Given the description of an element on the screen output the (x, y) to click on. 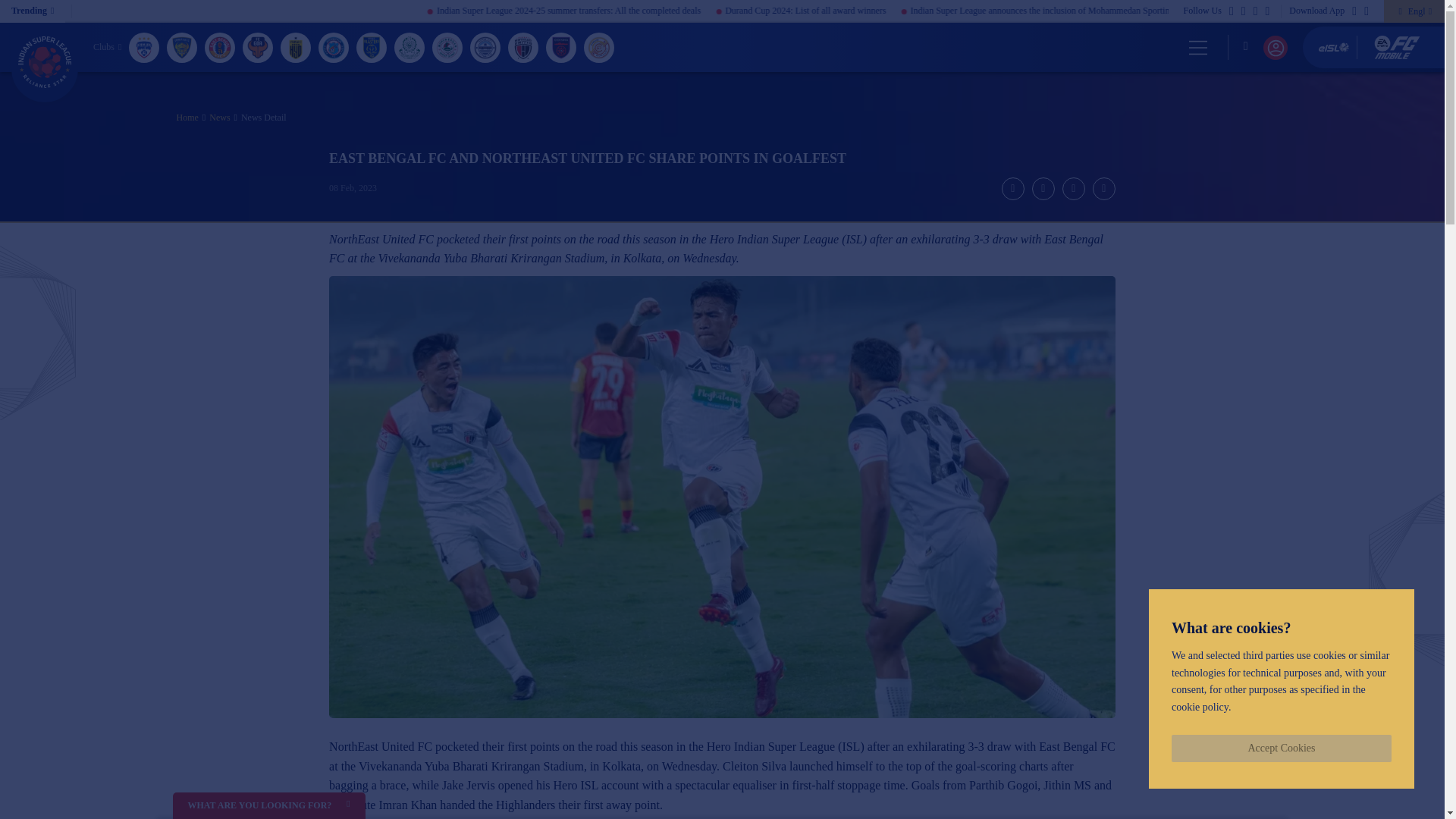
Mohun Bagan Super Giant (447, 46)
East Bengal FC (219, 46)
Jamshedpur FC (333, 46)
Mohammedan SC (409, 46)
NorthEast United FC (523, 46)
Bengaluru FC (143, 46)
Mumbai City FC (485, 46)
Odisha FC (561, 46)
